Given the description of an element on the screen output the (x, y) to click on. 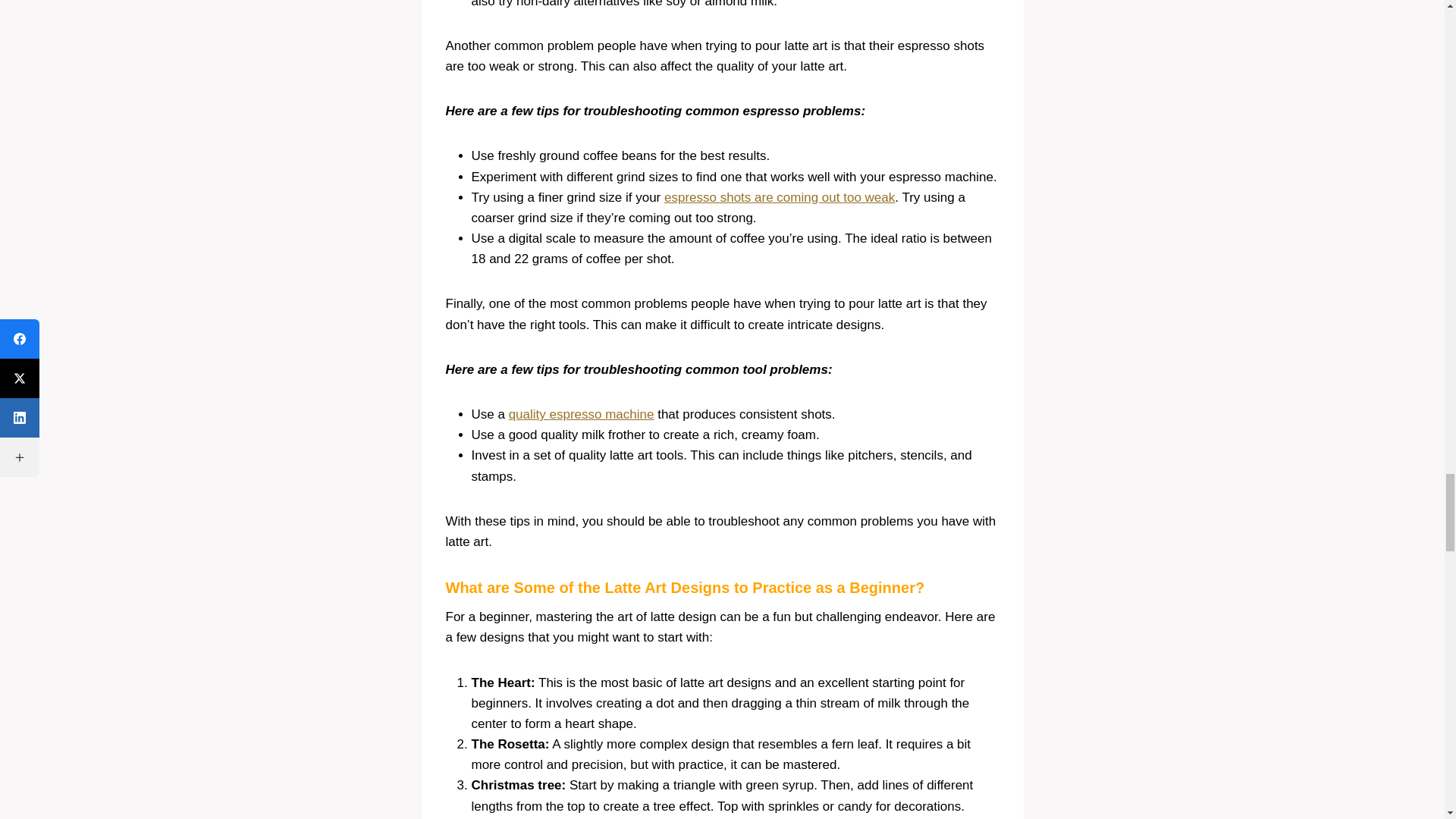
espresso shots are coming out too weak (779, 197)
quality espresso machine (580, 414)
